Given the description of an element on the screen output the (x, y) to click on. 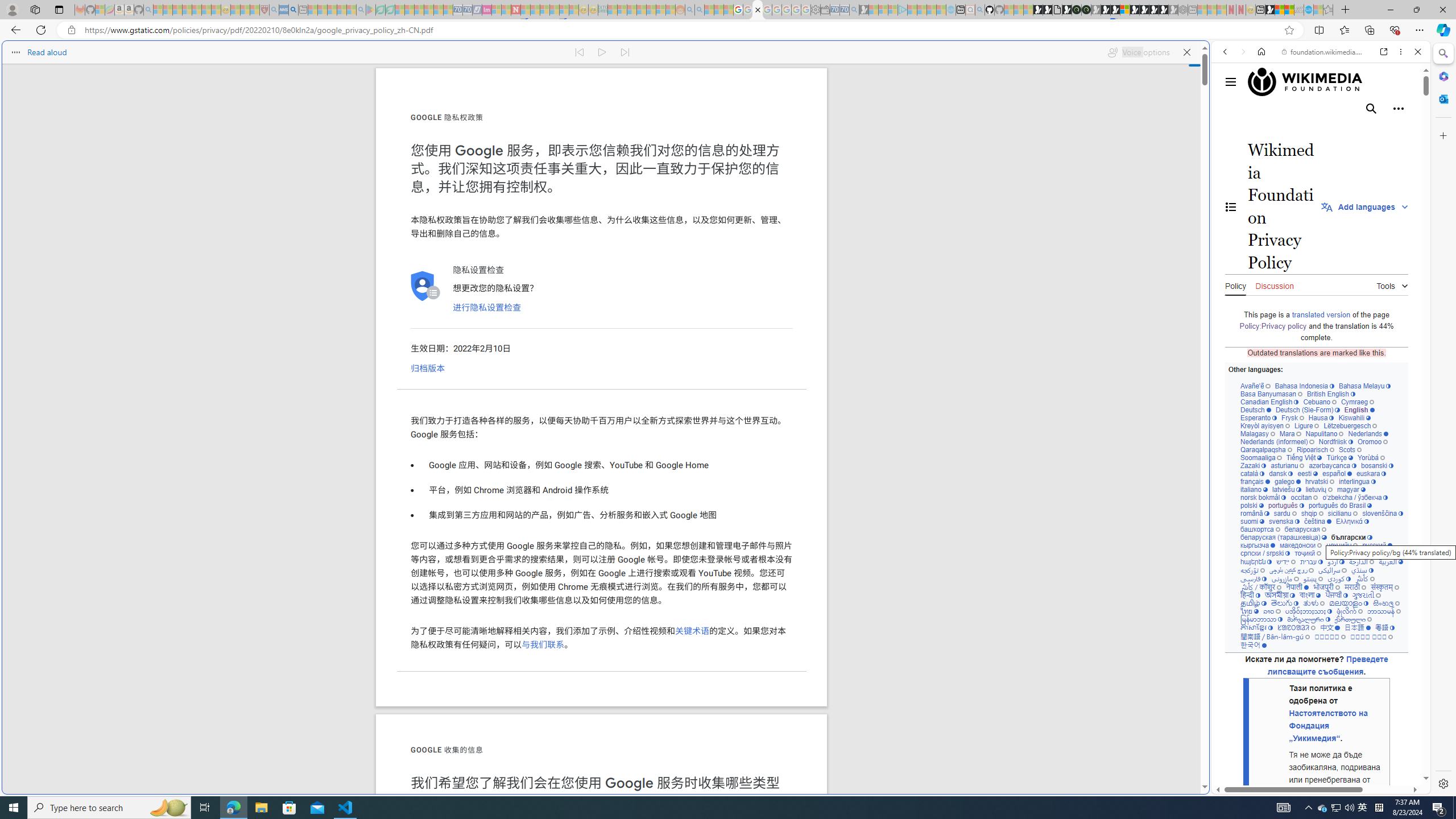
Malagasy (1257, 433)
italiano (1254, 488)
Read previous paragraph (579, 52)
